Given the description of an element on the screen output the (x, y) to click on. 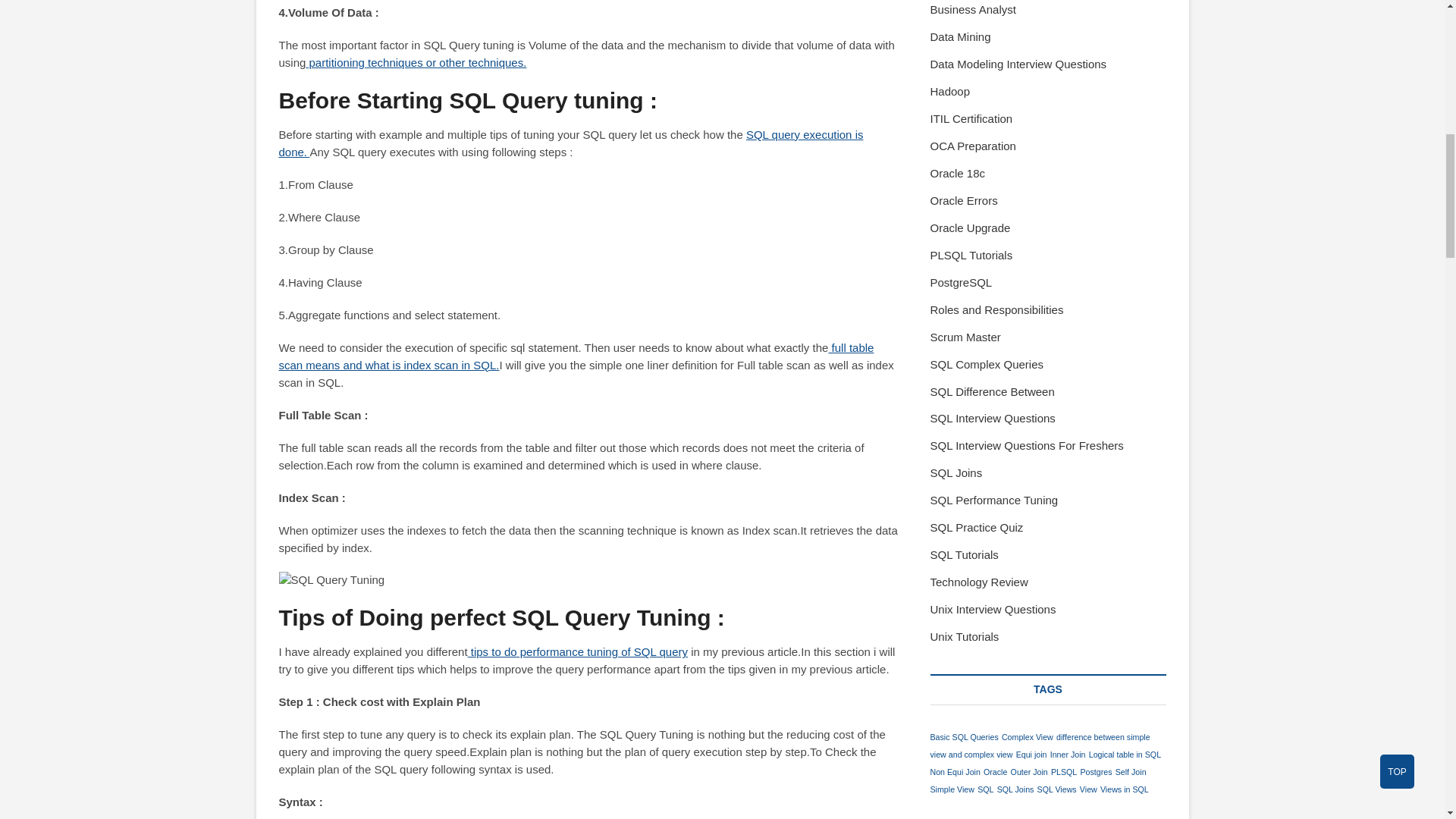
partitioning techniques or other techniques. (415, 62)
tips to do performance tuning of SQL query (577, 651)
full table scan means and what is index scan in SQL. (577, 356)
SQL query execution is done.  (571, 142)
